Given the description of an element on the screen output the (x, y) to click on. 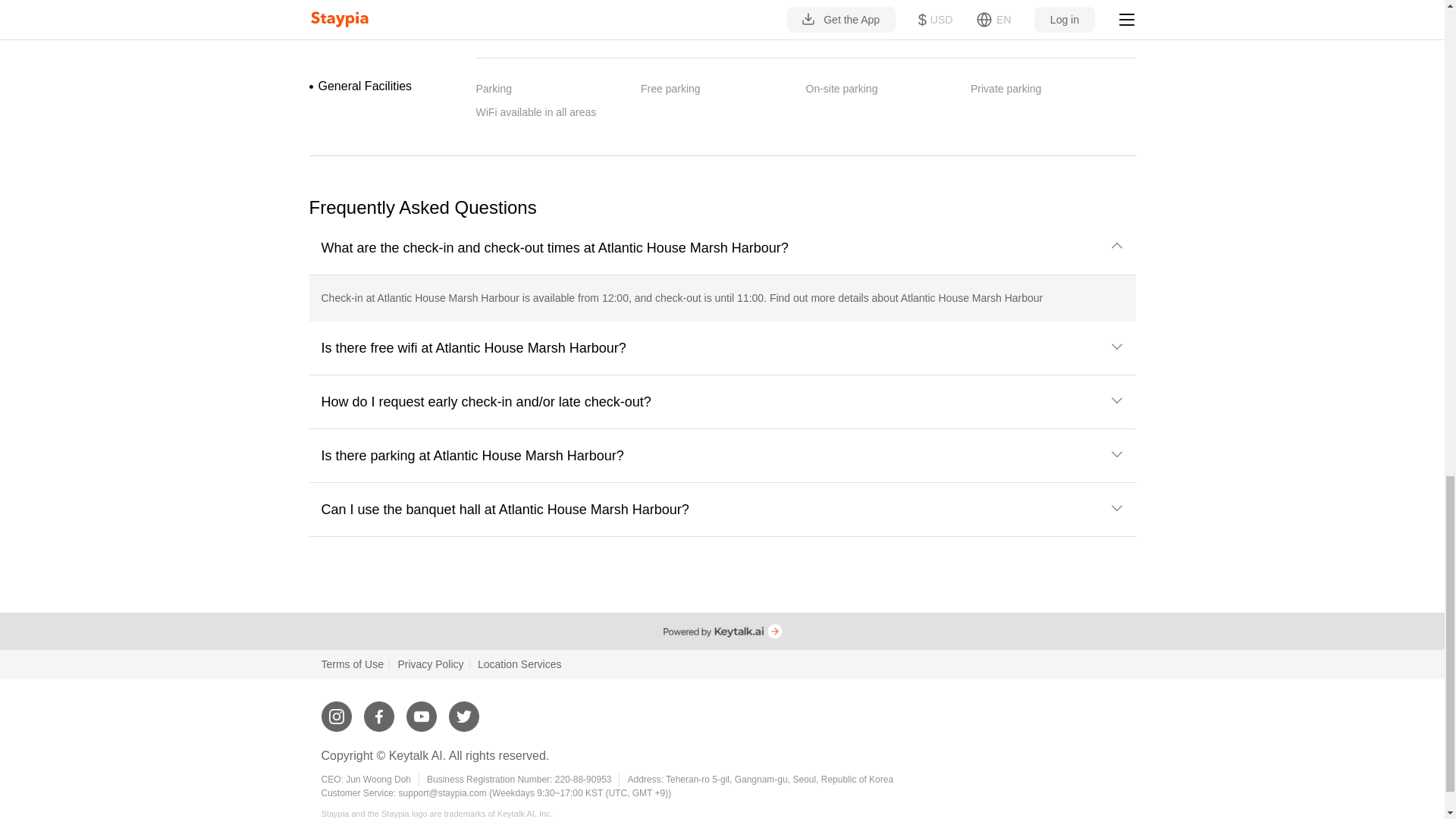
twitter (463, 709)
Is there free wifi at Atlantic House Marsh Harbour? (722, 347)
Terms of Use (352, 664)
instagram (336, 709)
Find out more details about Atlantic House Marsh Harbour (906, 297)
youtube (421, 709)
facebook (379, 709)
Can I use the banquet hall at Atlantic House Marsh Harbour? (722, 509)
Is there parking at Atlantic House Marsh Harbour? (722, 455)
Location Services (519, 664)
Privacy Policy (430, 664)
